Given the description of an element on the screen output the (x, y) to click on. 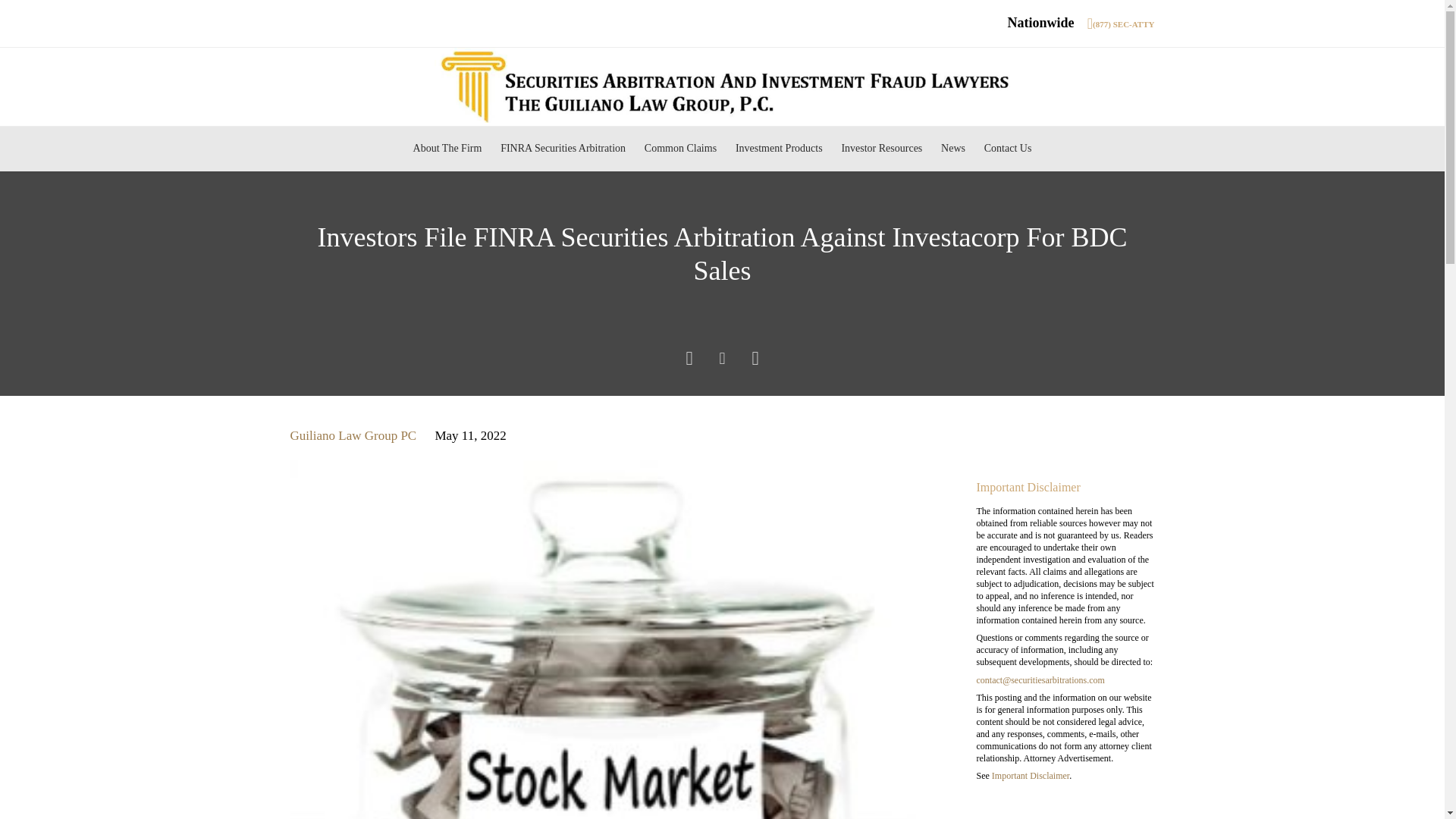
Posts by Guiliano Law Group PC (352, 435)
About The Firm (446, 148)
FINRA Securities Arbitration (563, 148)
Common Claims (679, 148)
